Given the description of an element on the screen output the (x, y) to click on. 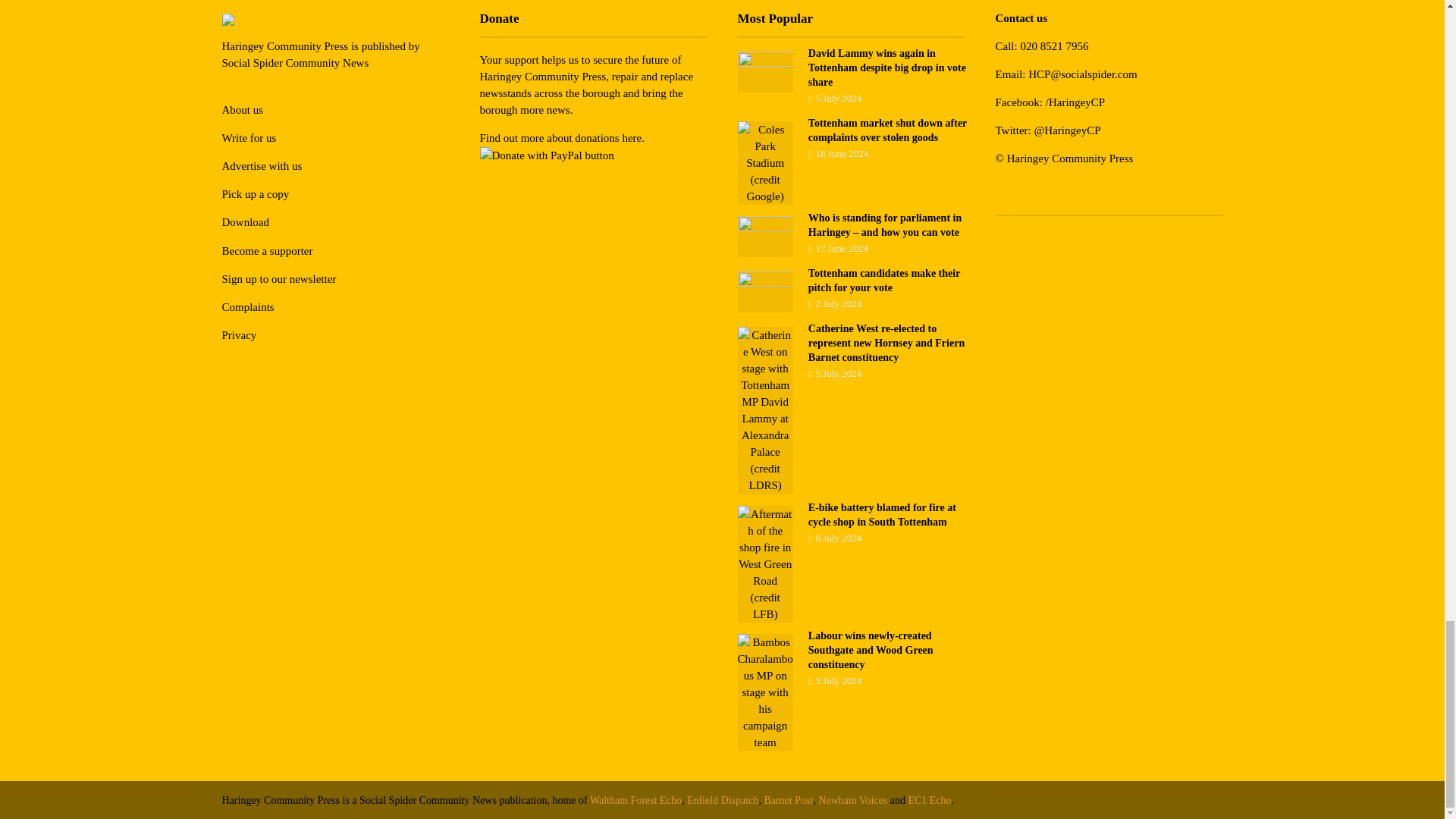
PayPal - The safer, easier way to pay online! (545, 155)
Tottenham candidates make their pitch for your vote (764, 291)
